Given the description of an element on the screen output the (x, y) to click on. 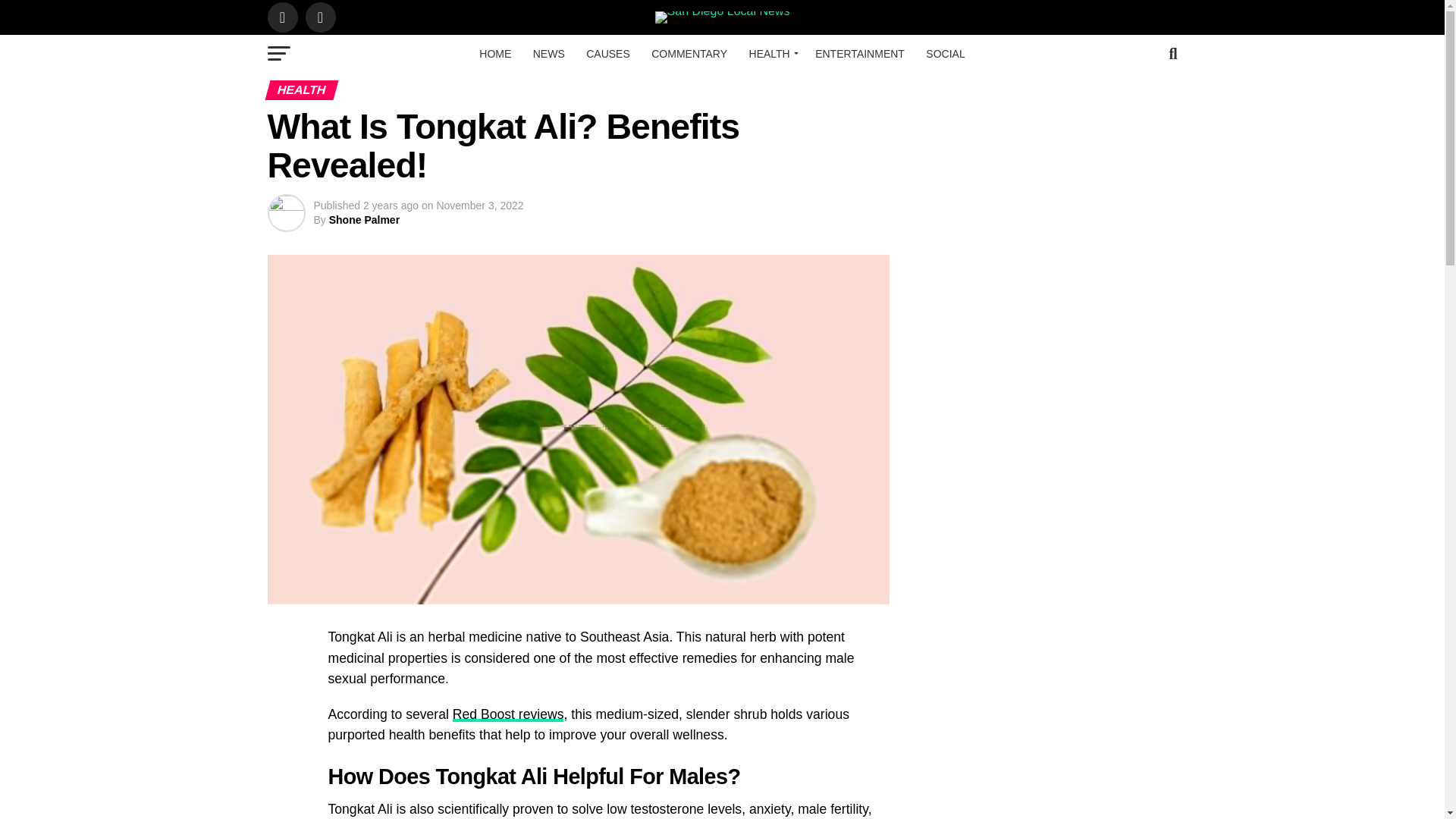
COMMENTARY (689, 53)
CAUSES (607, 53)
SOCIAL (945, 53)
ENTERTAINMENT (860, 53)
HEALTH (771, 53)
Shone Palmer (363, 219)
HOME (494, 53)
Red Boost reviews (508, 713)
NEWS (548, 53)
Posts by Shone Palmer (363, 219)
